Given the description of an element on the screen output the (x, y) to click on. 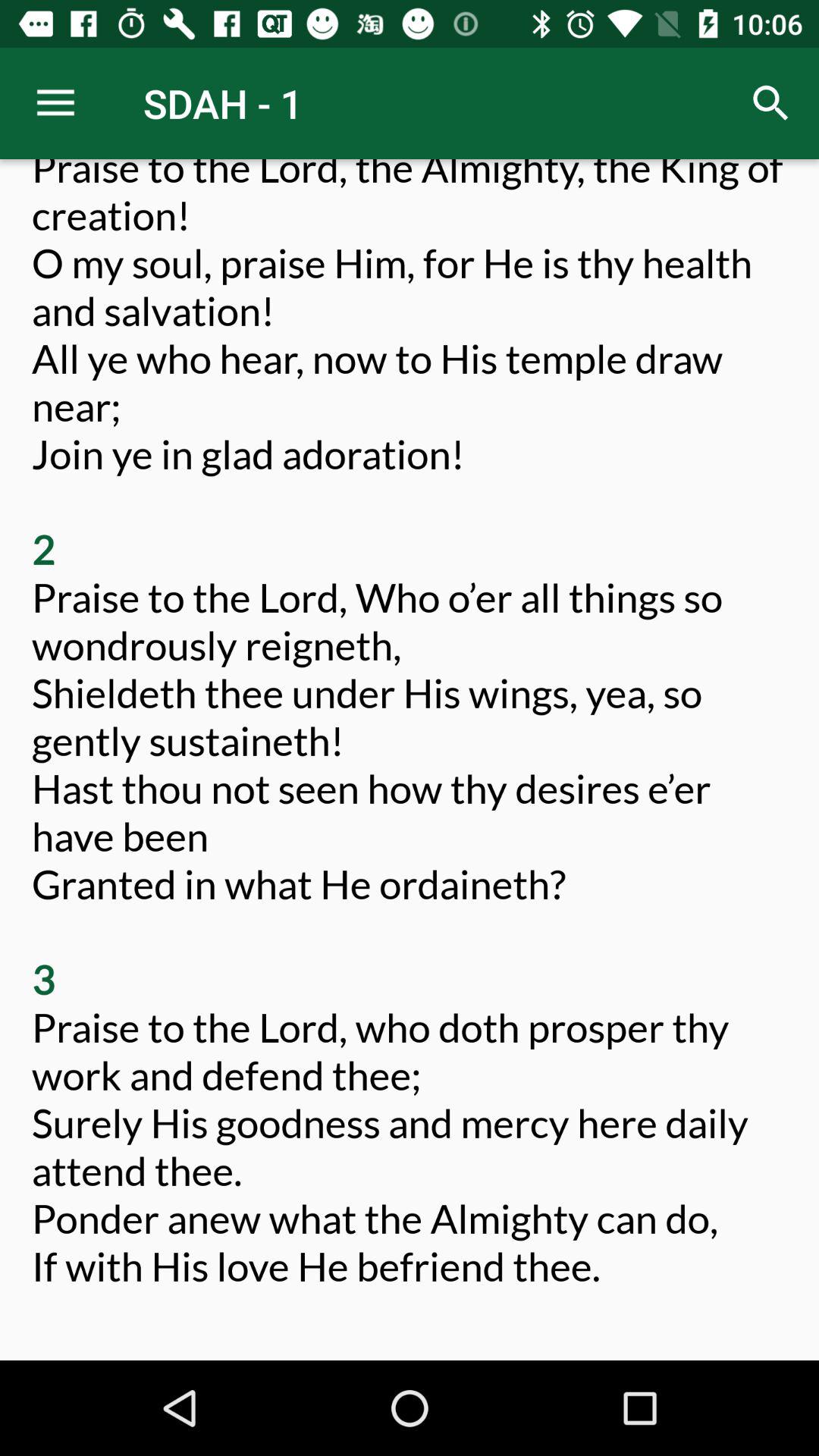
open icon next to the sdah - 1 (771, 103)
